Given the description of an element on the screen output the (x, y) to click on. 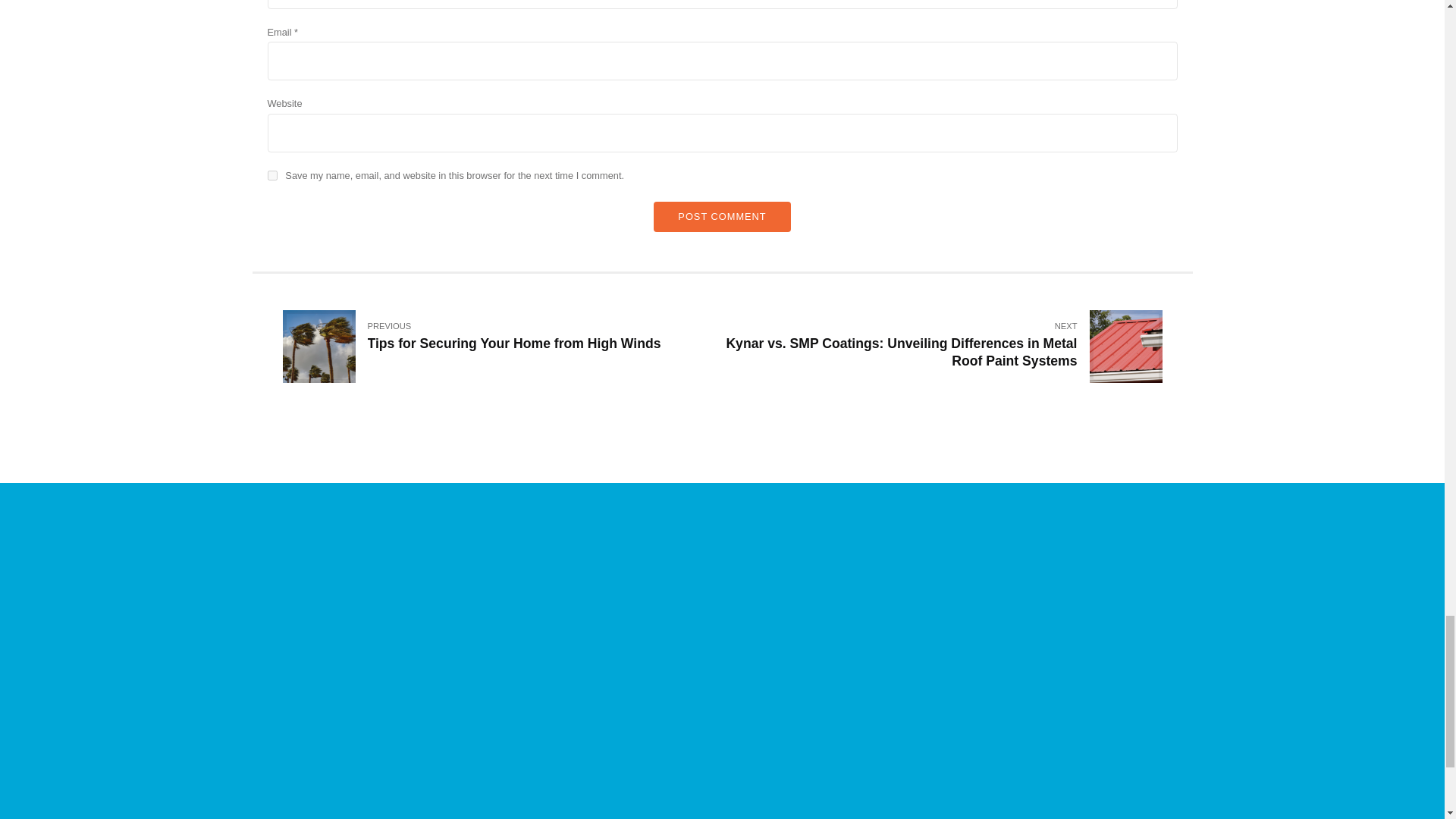
yes (502, 347)
POST COMMENT (271, 175)
